Given the description of an element on the screen output the (x, y) to click on. 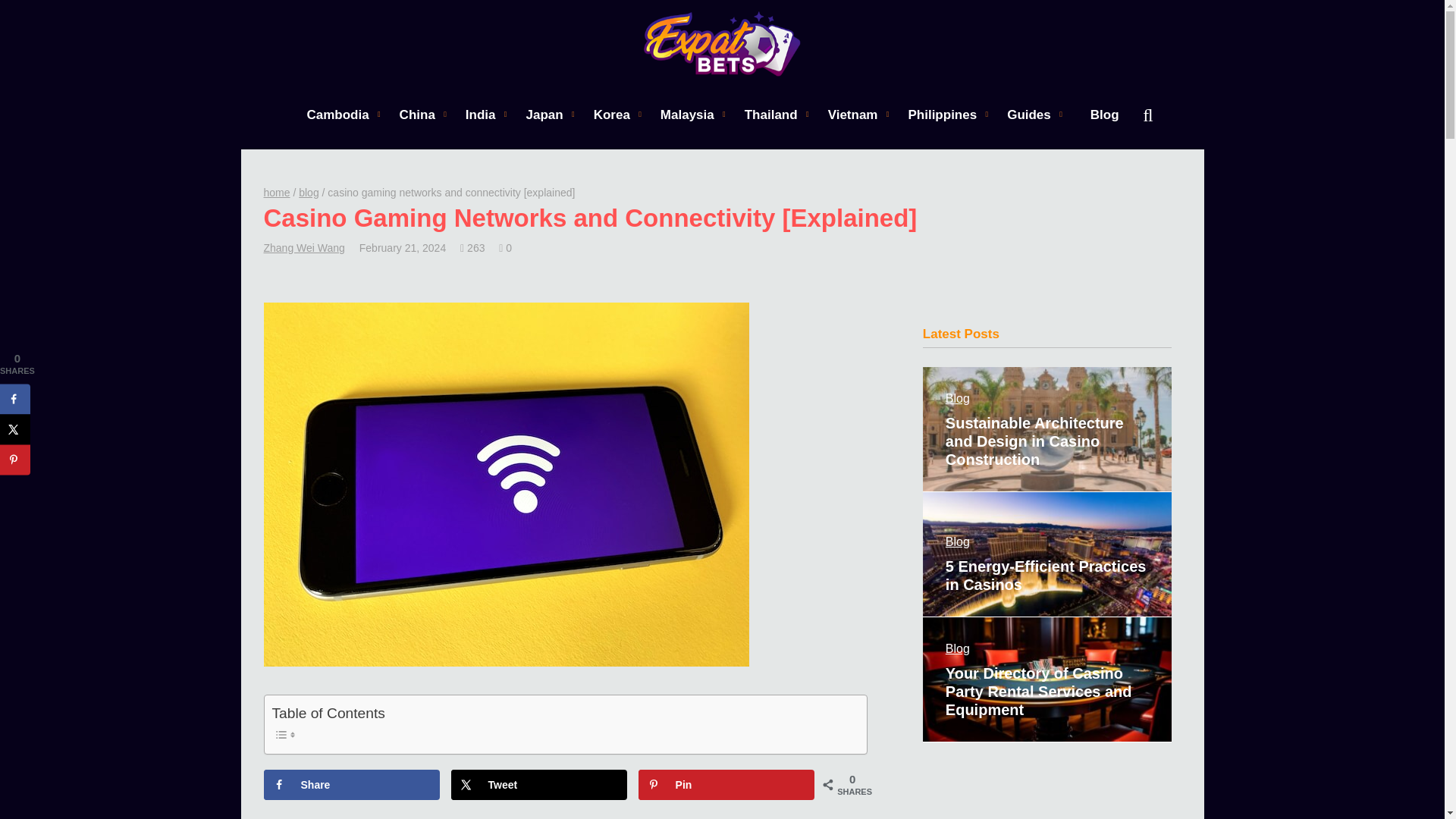
Posts by Zhang Wei Wang (304, 247)
Expat Bets (721, 43)
Cambodia (336, 114)
